Given the description of an element on the screen output the (x, y) to click on. 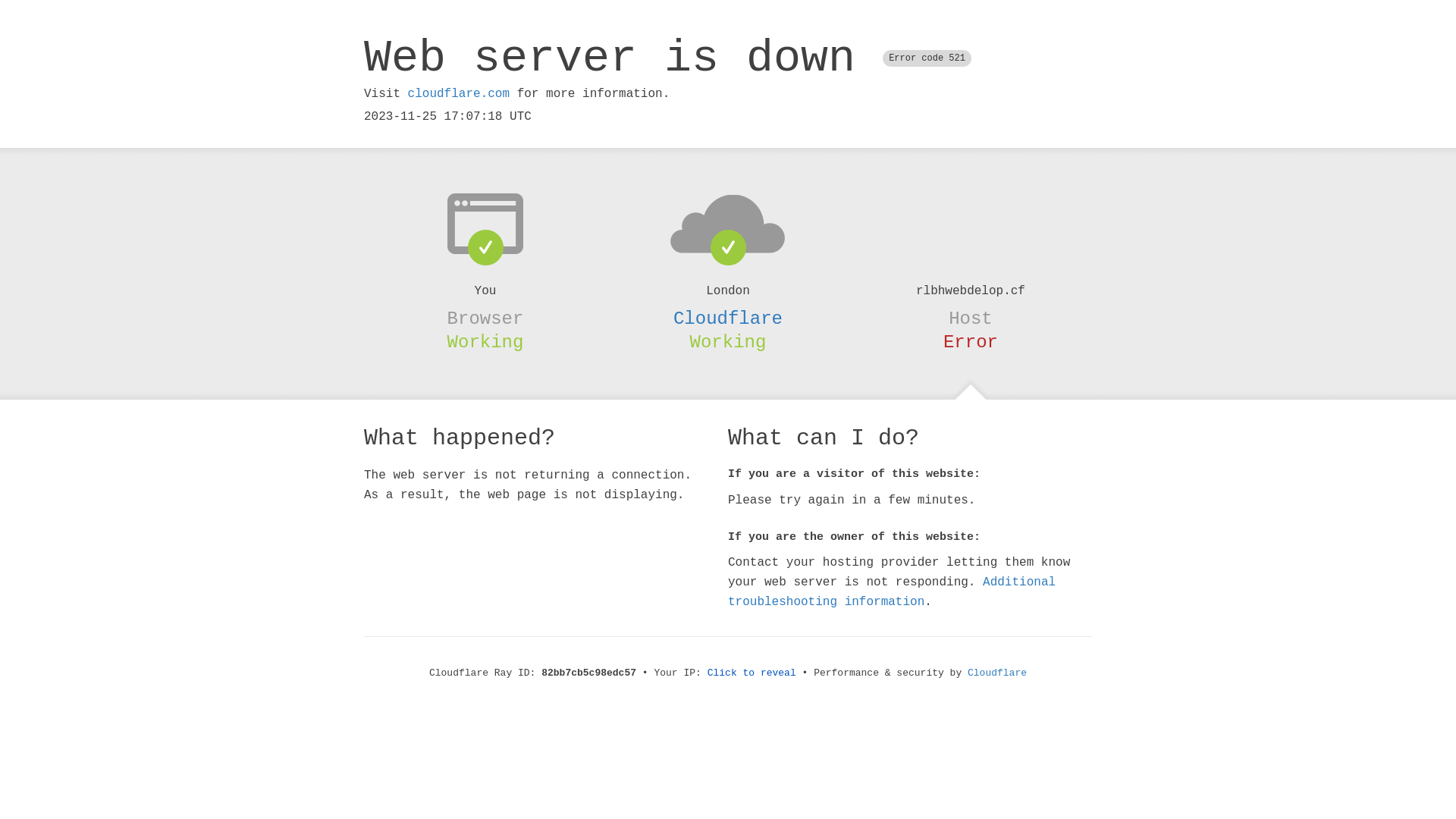
Additional troubleshooting information Element type: text (891, 591)
Cloudflare Element type: text (996, 672)
cloudflare.com Element type: text (458, 93)
Click to reveal Element type: text (751, 672)
Cloudflare Element type: text (727, 318)
